Given the description of an element on the screen output the (x, y) to click on. 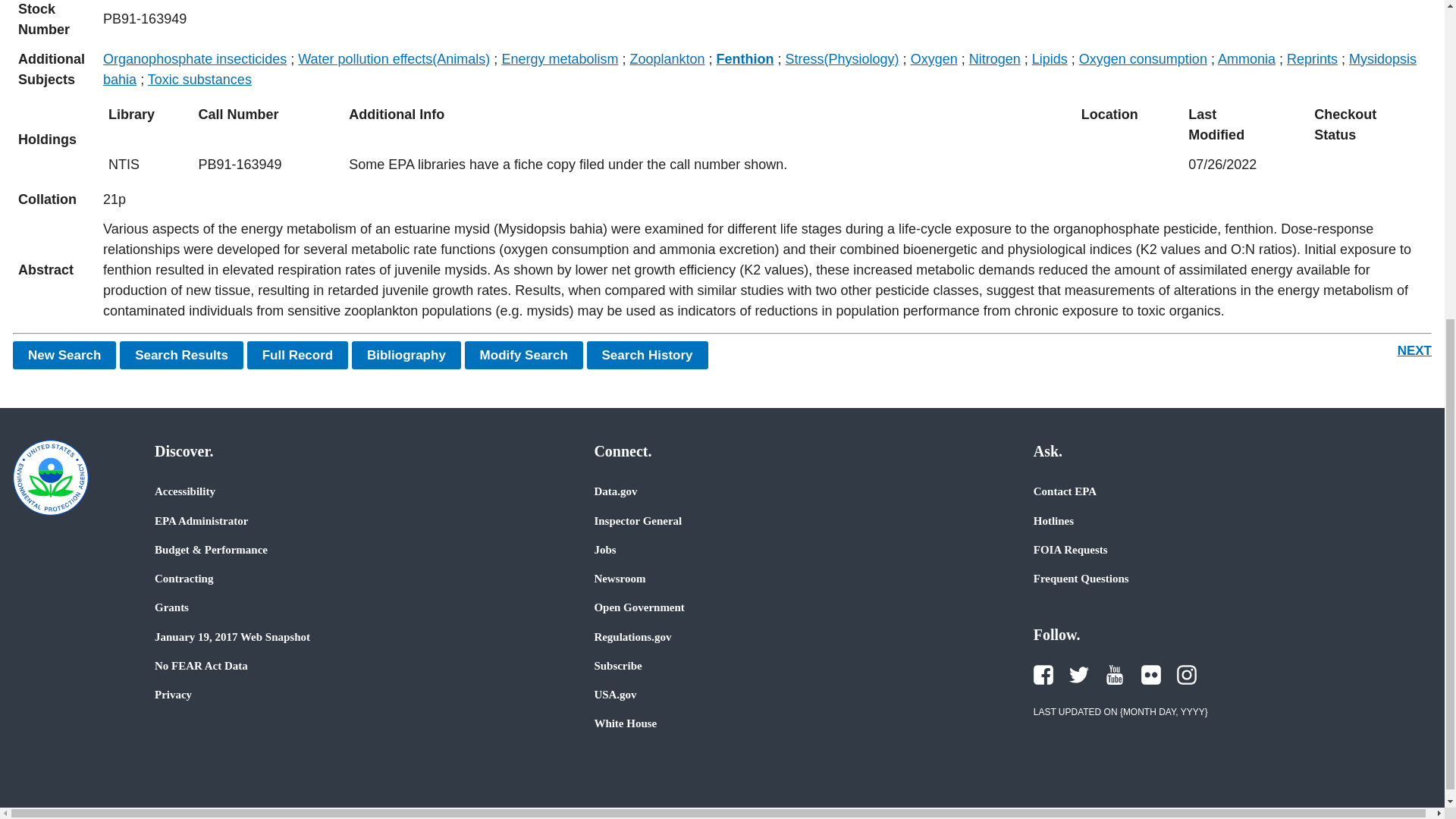
Ammonia (1246, 58)
Accessibility (184, 490)
Contracting (183, 578)
Reprints (1312, 58)
January 19, 2017 Web Snapshot (232, 636)
Full Record (298, 355)
Toxic substances (199, 79)
Organophosphate insecticides (194, 58)
Bibliography (406, 355)
NEXT (1414, 350)
Create a New Search (64, 355)
Oxygen consumption (1142, 58)
Zooplankton (666, 58)
New Search (64, 355)
EPA Administrator (200, 520)
